Given the description of an element on the screen output the (x, y) to click on. 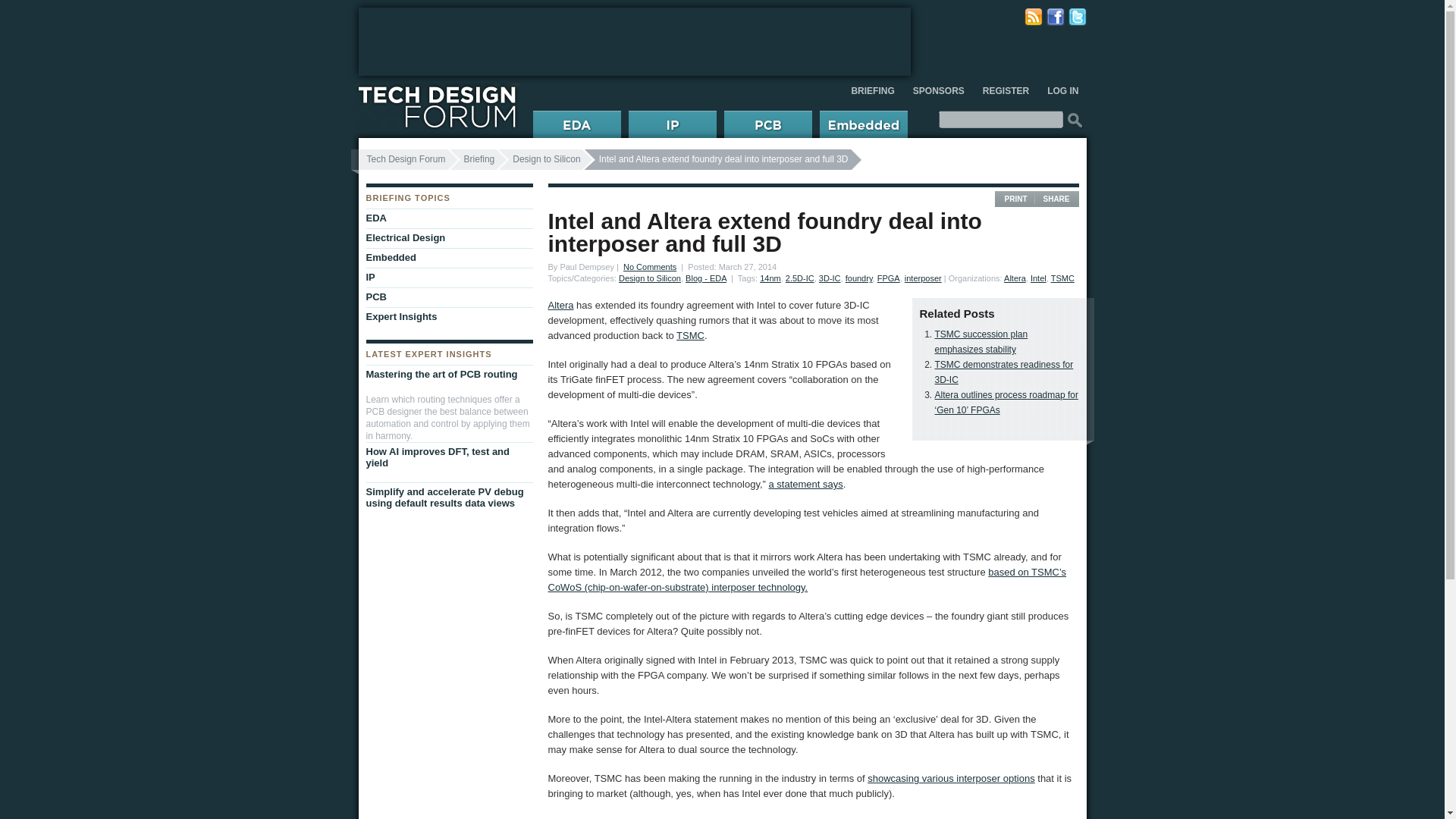
Blog - EDA (705, 277)
PCB (445, 297)
Expert Insights (445, 316)
foundry (858, 277)
Electrical Design (445, 238)
Tech Design Forum (402, 159)
TSMC succession plan emphasizes stability (980, 341)
SHARE (1055, 198)
14nm (770, 277)
Briefing (471, 159)
